Given the description of an element on the screen output the (x, y) to click on. 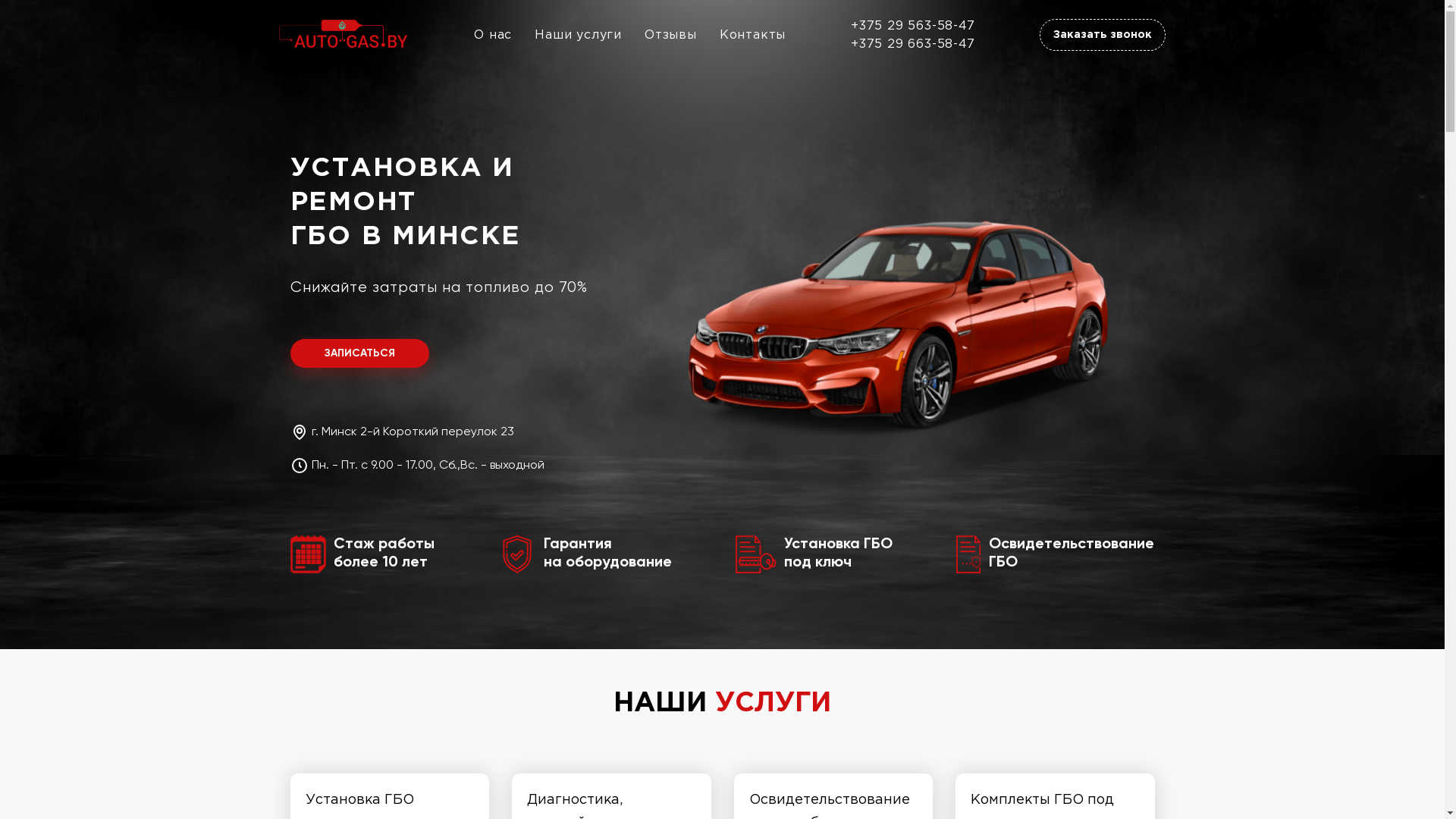
+375 29 563-58-47 Element type: text (912, 25)
+375 29 663-58-47 Element type: text (912, 43)
